Given the description of an element on the screen output the (x, y) to click on. 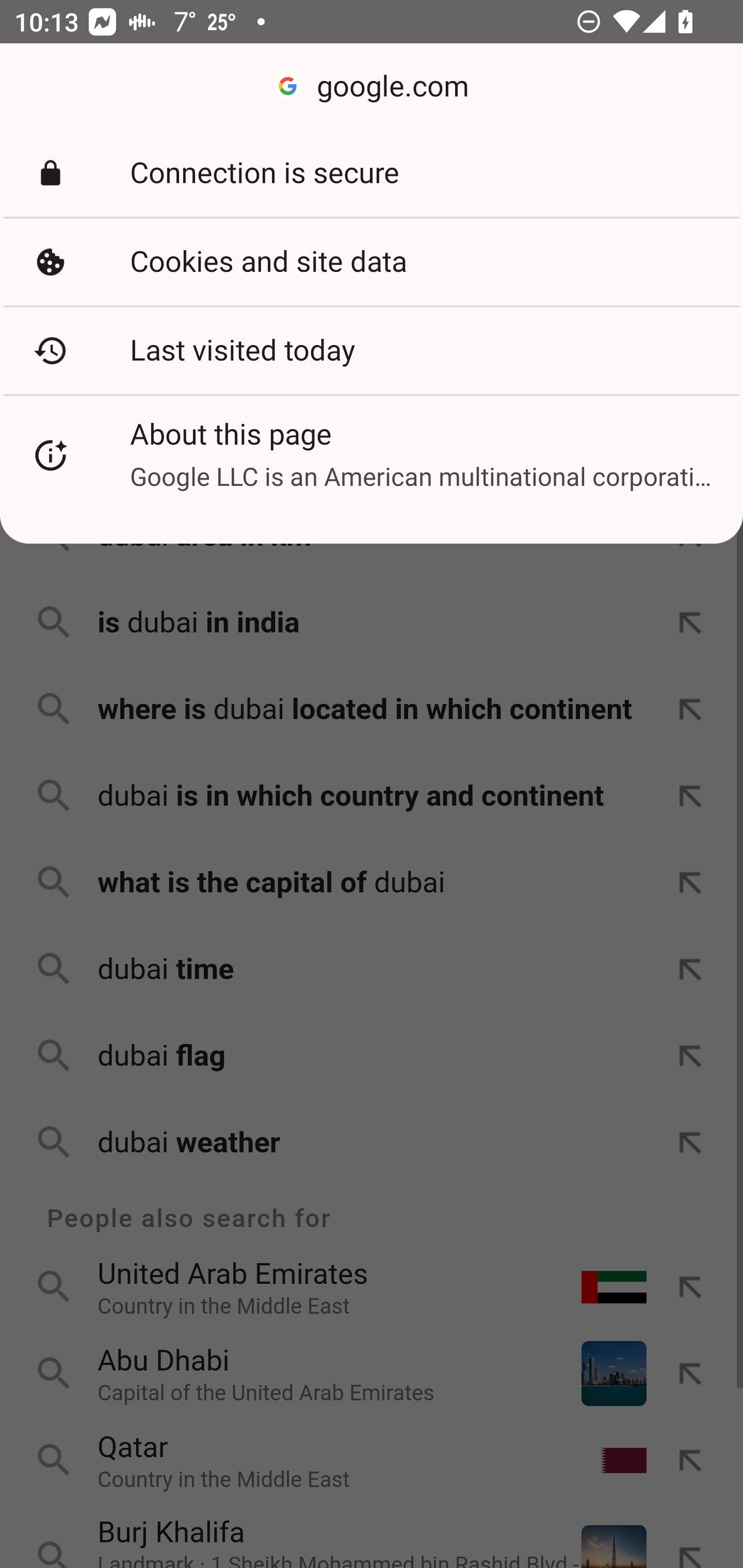
google.com (371, 86)
Connection is secure (371, 173)
Cookies and site data (371, 261)
Last visited today (371, 350)
